Given the description of an element on the screen output the (x, y) to click on. 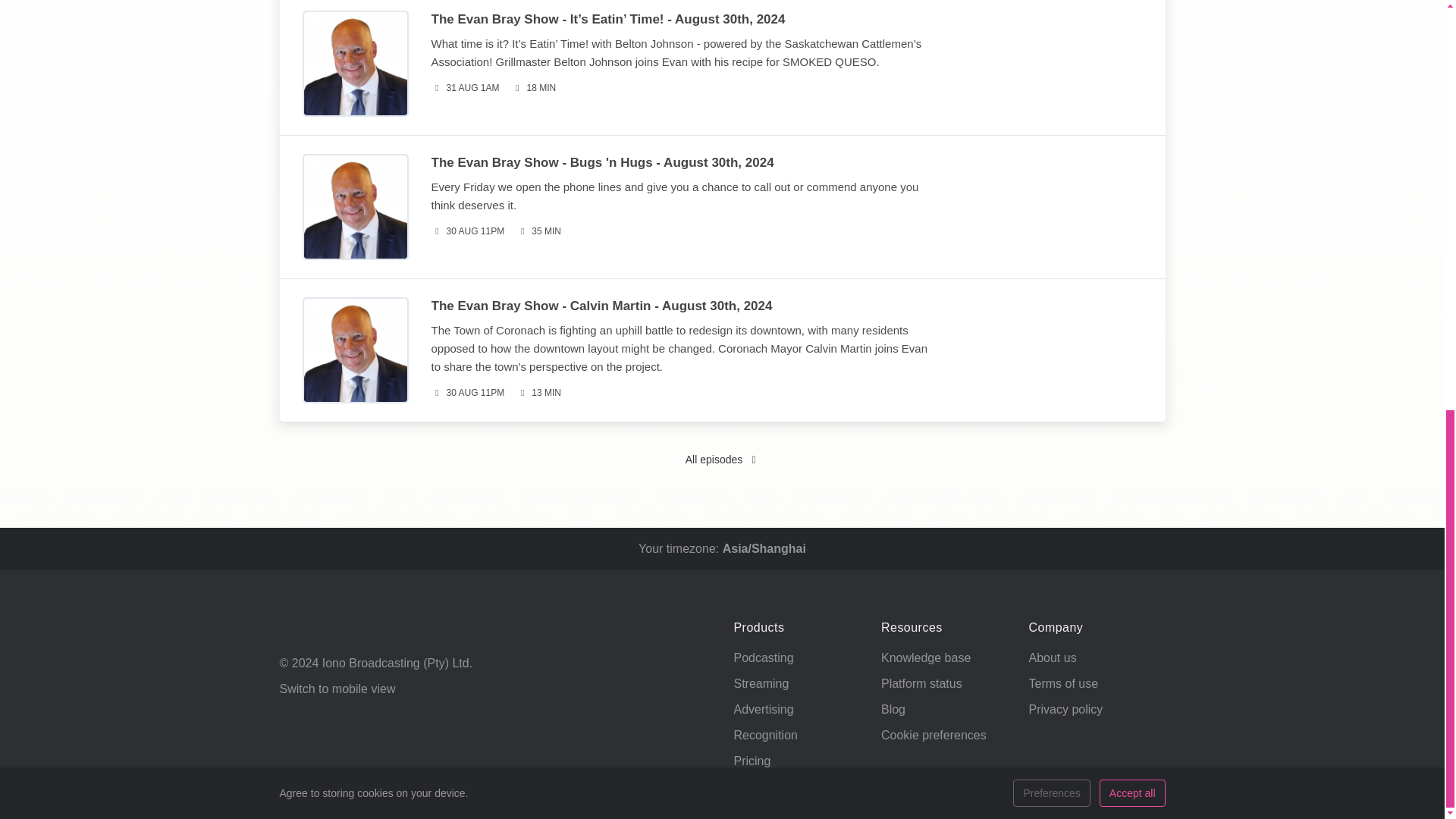
Duration (538, 392)
Published (466, 231)
Published (466, 392)
Duration (538, 231)
Published (464, 88)
Duration (534, 88)
